Given the description of an element on the screen output the (x, y) to click on. 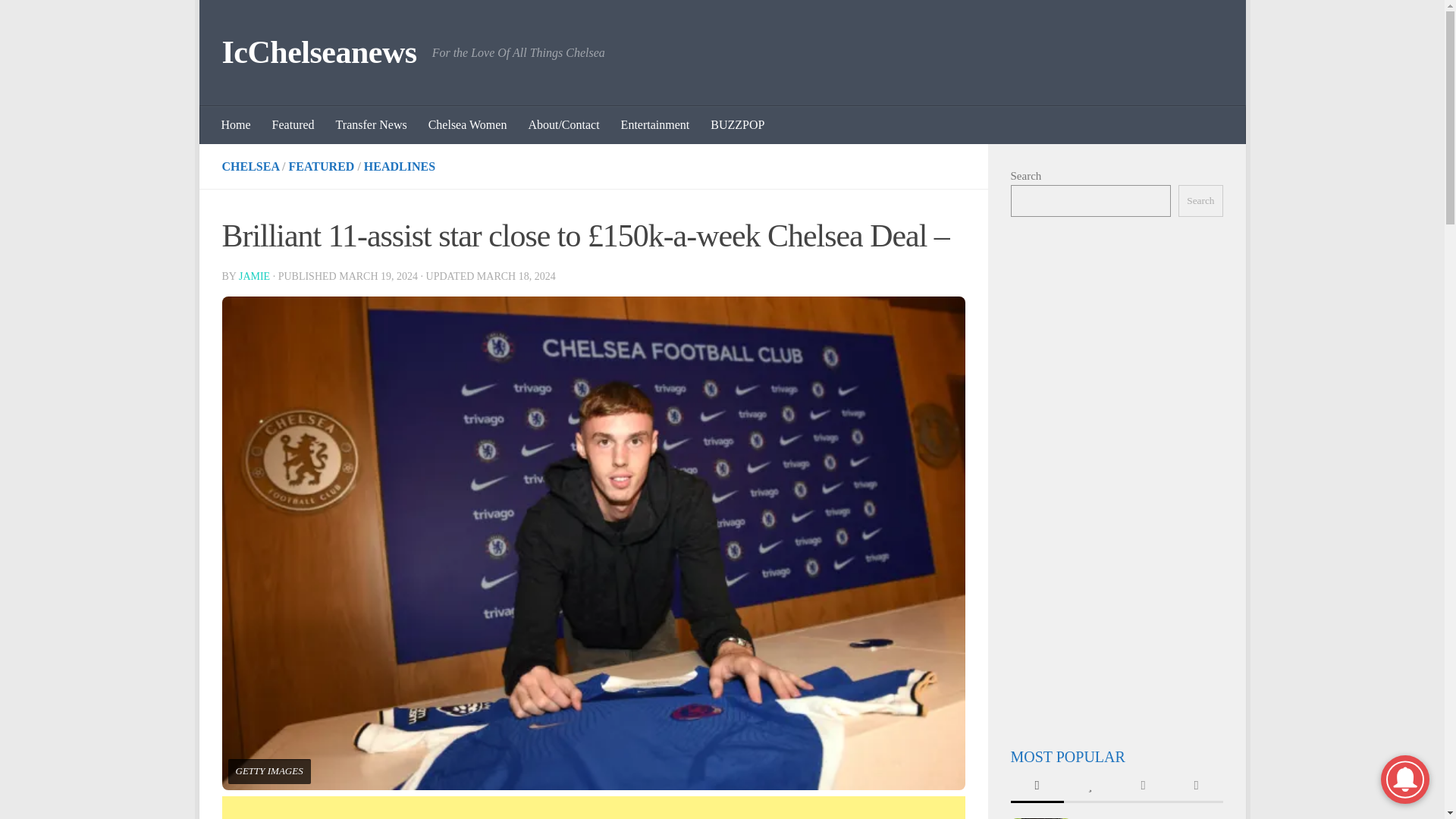
Home (236, 125)
HEADLINES (399, 165)
Transfer News (370, 125)
Recent Posts (1036, 786)
BUZZPOP (737, 125)
JAMIE (253, 276)
Recent Comments (1142, 786)
Search (1200, 201)
Popular Posts (1089, 786)
Entertainment (655, 125)
Featured (293, 125)
Advertisement (592, 807)
Chelsea Women (467, 125)
FEATURED (321, 165)
Posts by Jamie (253, 276)
